Given the description of an element on the screen output the (x, y) to click on. 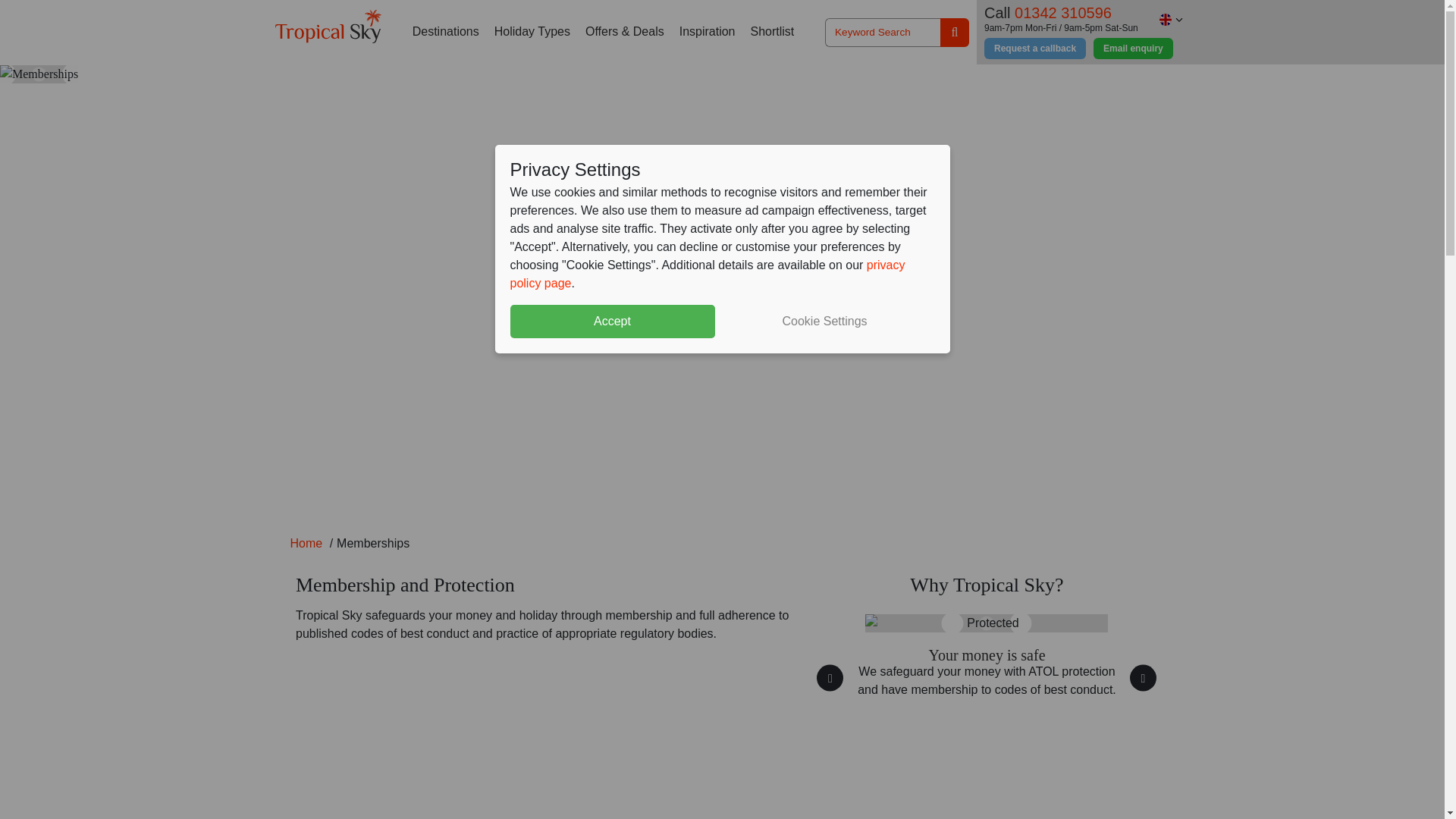
Tropical Sky (328, 26)
Destinations (445, 32)
